Given the description of an element on the screen output the (x, y) to click on. 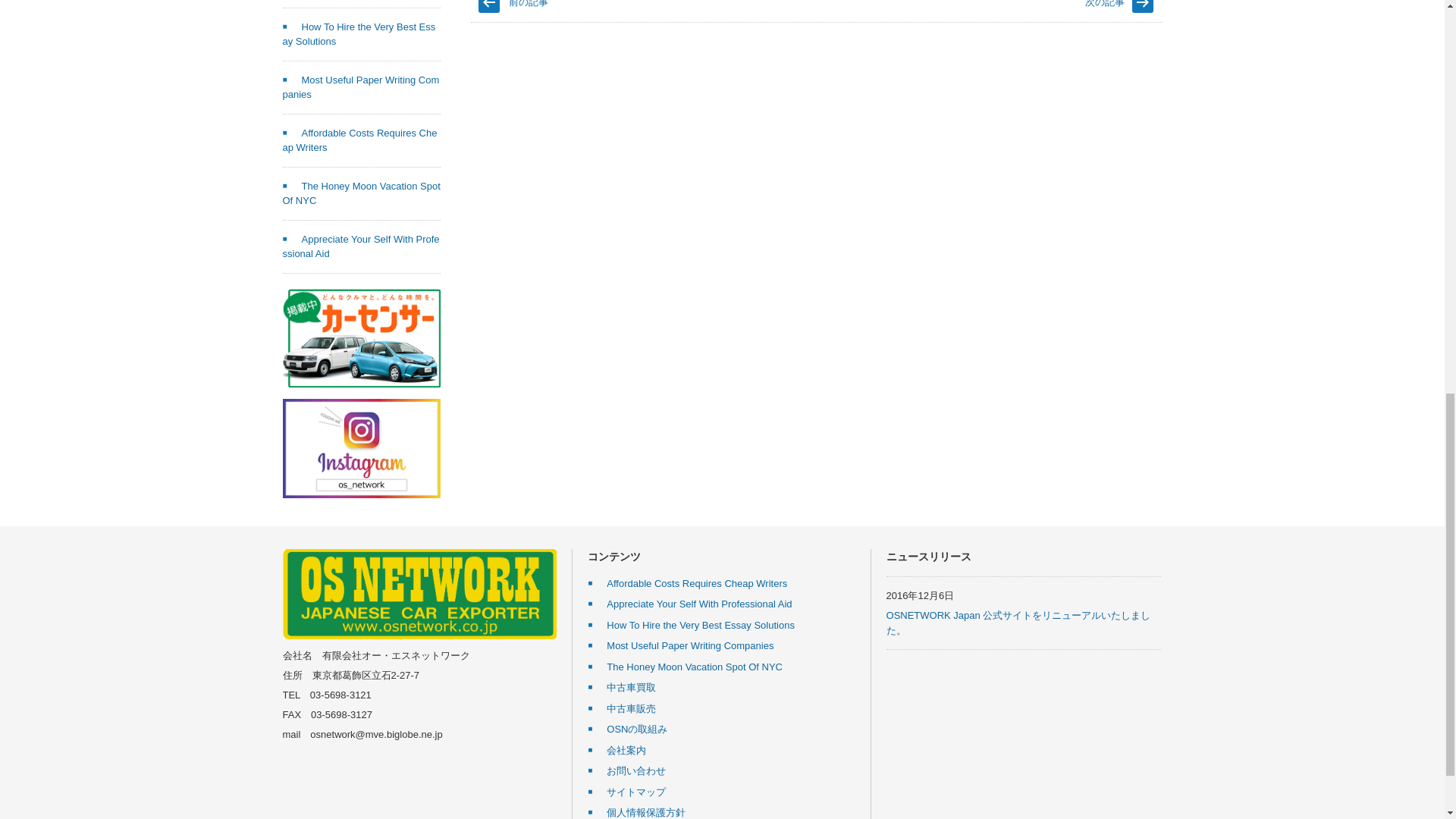
Appreciate Your Self With Professional Aid (360, 246)
Affordable Costs Requires Cheap Writers (359, 140)
Most Useful Paper Writing Companies (360, 87)
The Honey Moon Vacation Spot Of NYC (360, 193)
How To Hire the Very Best Essay Solutions (358, 34)
